Given the description of an element on the screen output the (x, y) to click on. 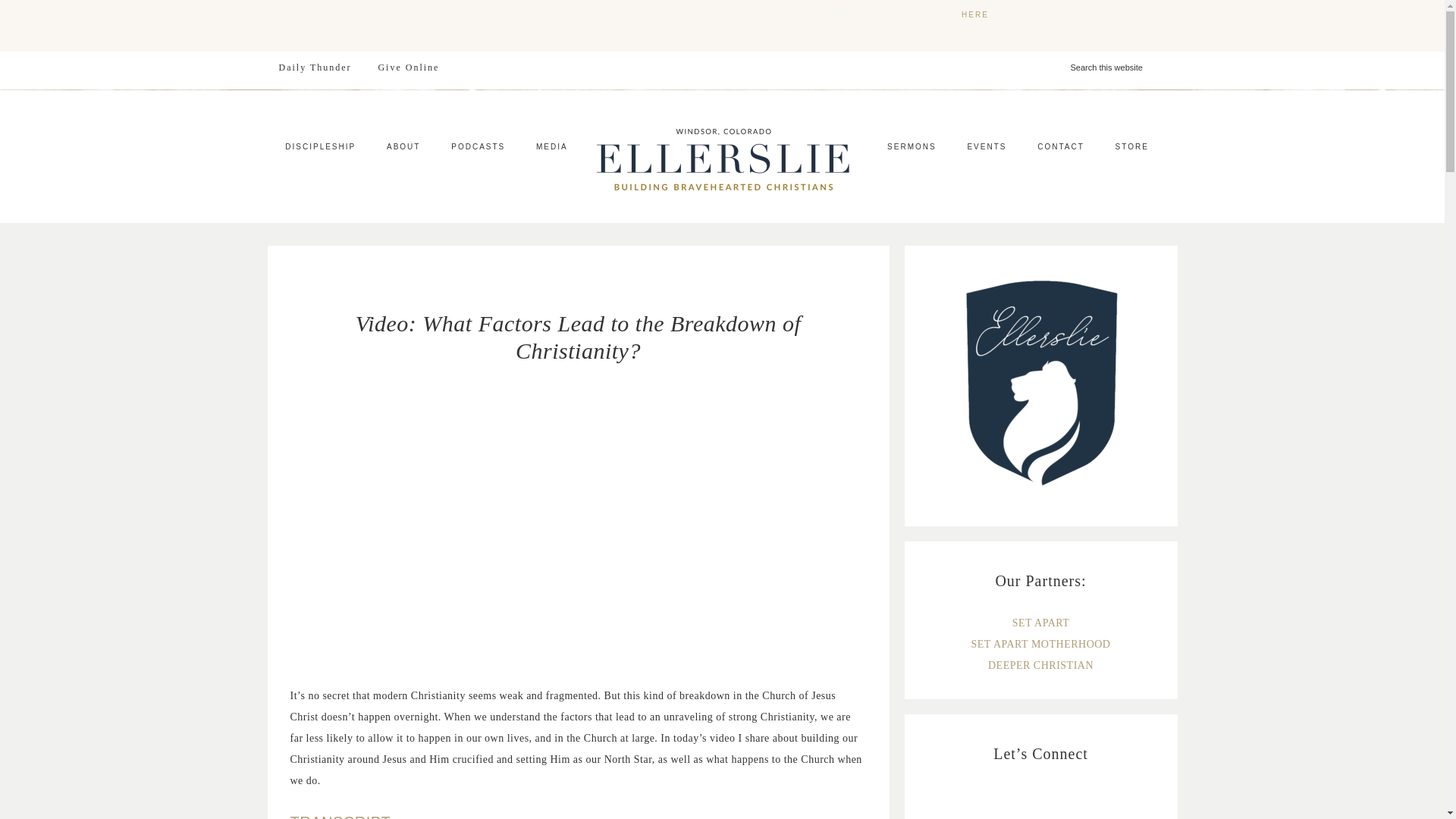
ABOUT (402, 146)
EVENTS (986, 146)
Give Online (407, 67)
DISCIPLESHIP (319, 146)
PODCASTS (478, 146)
CONTACT (1060, 146)
HERE (974, 14)
